Given the description of an element on the screen output the (x, y) to click on. 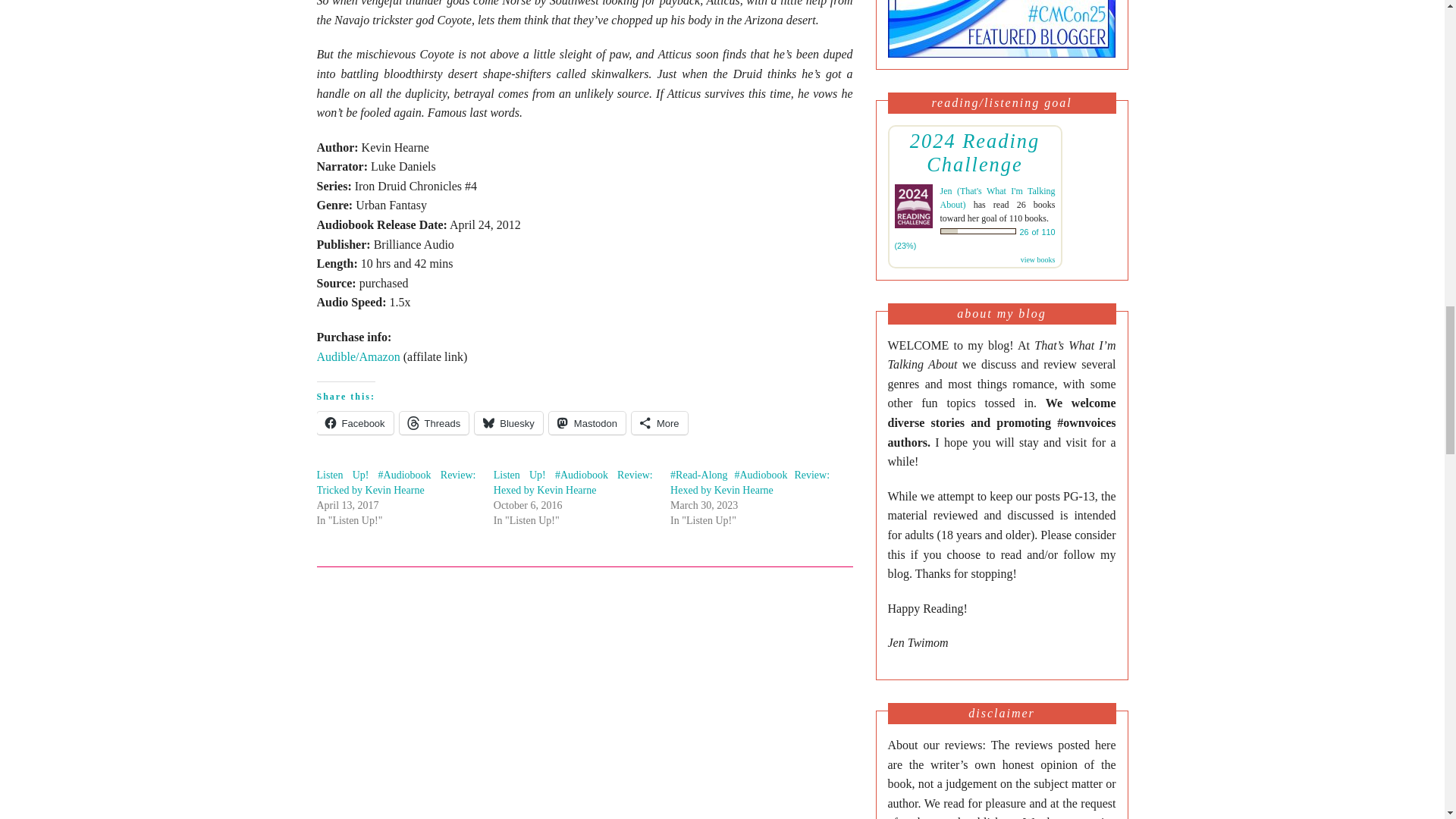
Click to share on Mastodon (587, 422)
Click to share on Bluesky (508, 422)
Click to share on Threads (433, 422)
Click to share on Facebook (355, 422)
